Given the description of an element on the screen output the (x, y) to click on. 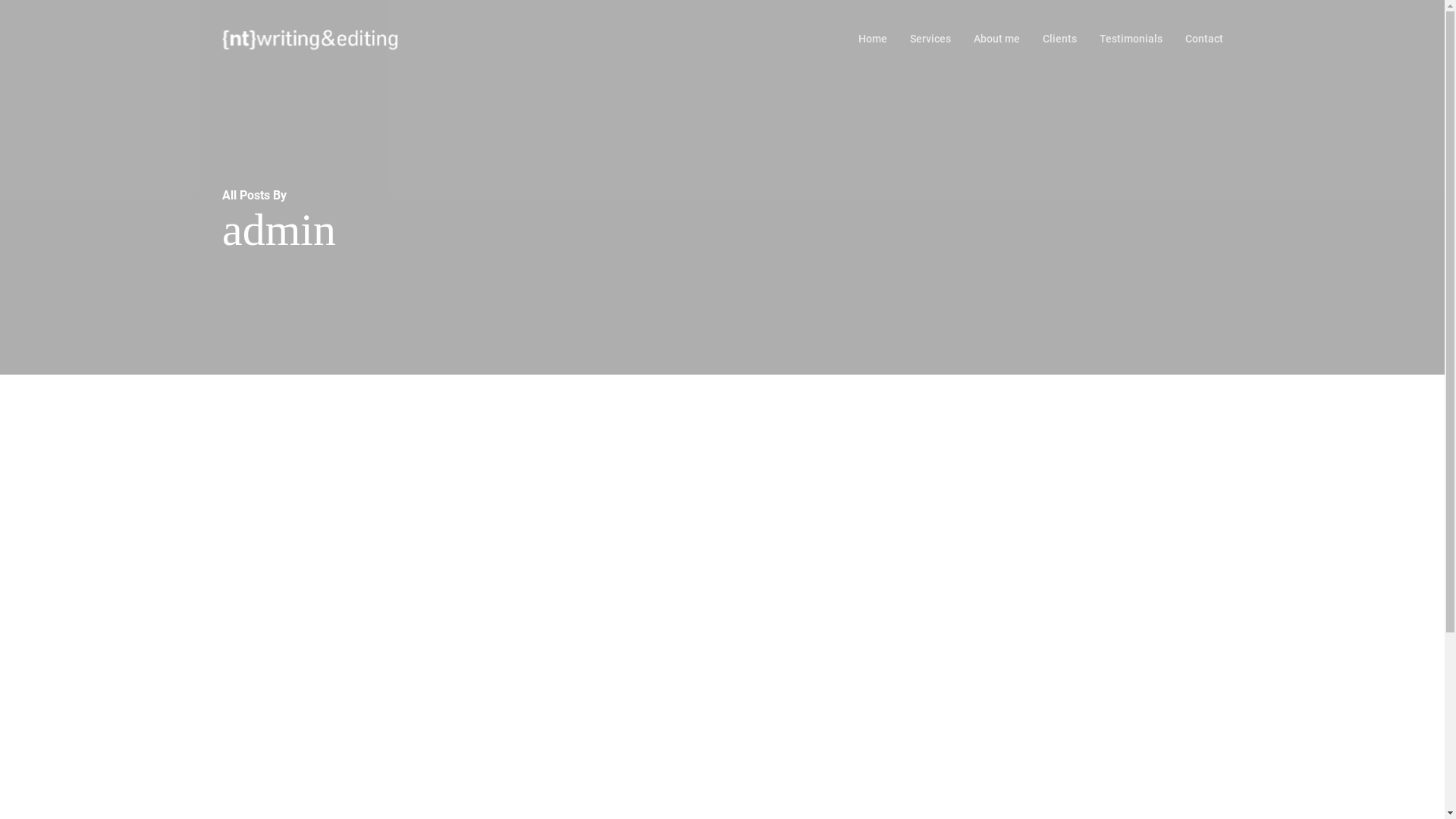
Services Element type: text (930, 38)
Robin Hall Design Element type: text (792, 756)
Home Element type: text (872, 38)
Clients Element type: text (1058, 38)
Contact Element type: text (1203, 38)
About me Element type: text (996, 38)
Testimonials Element type: text (1130, 38)
